Given the description of an element on the screen output the (x, y) to click on. 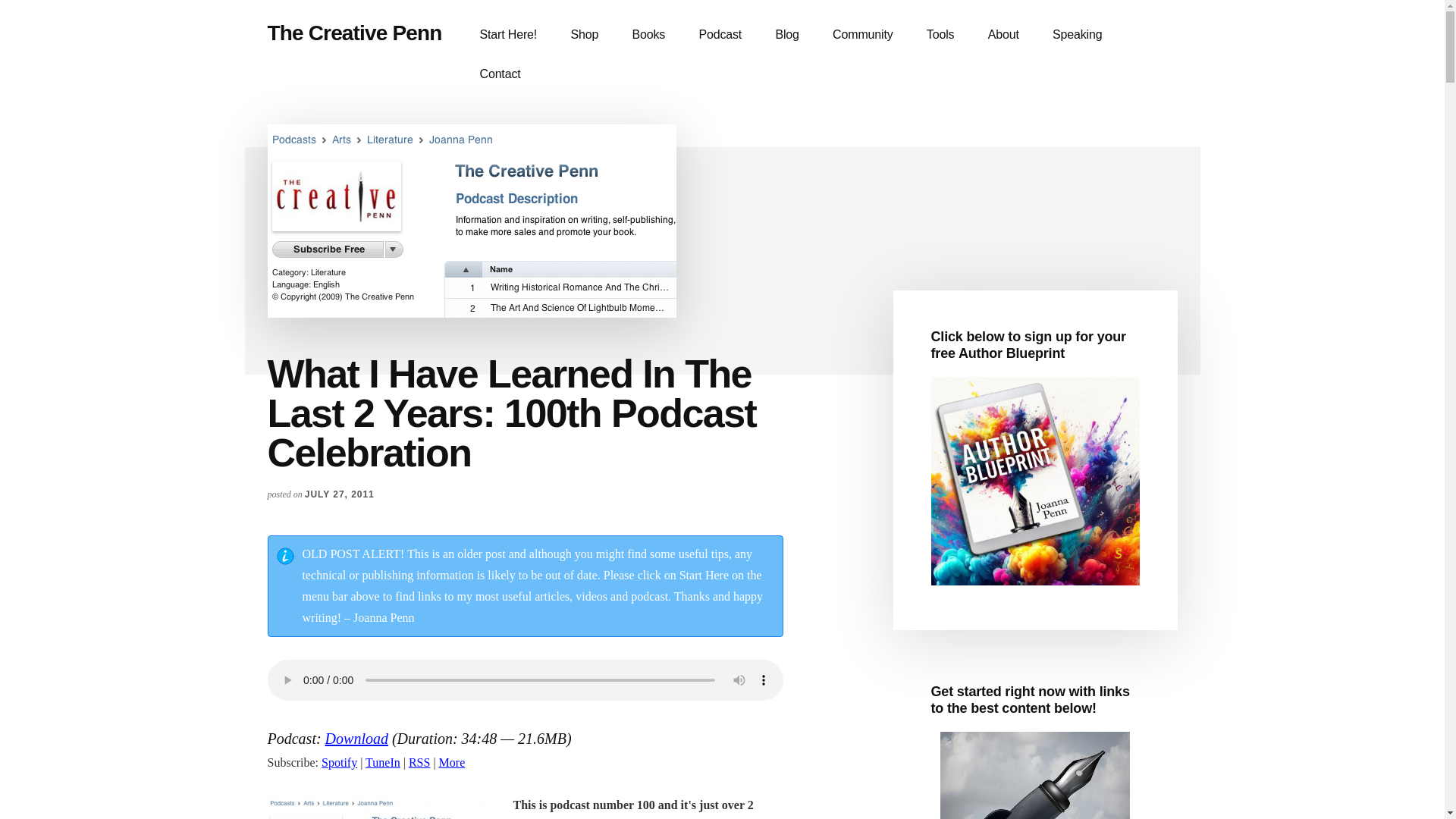
Tools (940, 34)
Speaking (1076, 34)
Blog (786, 34)
Subscribe via RSS (419, 762)
RSS (419, 762)
Download (356, 738)
Subscribe on TuneIn (382, 762)
Download (356, 738)
Community (861, 34)
About (1002, 34)
Spotify (338, 762)
Start Here! (507, 34)
More (452, 762)
Shop (583, 34)
